Given the description of an element on the screen output the (x, y) to click on. 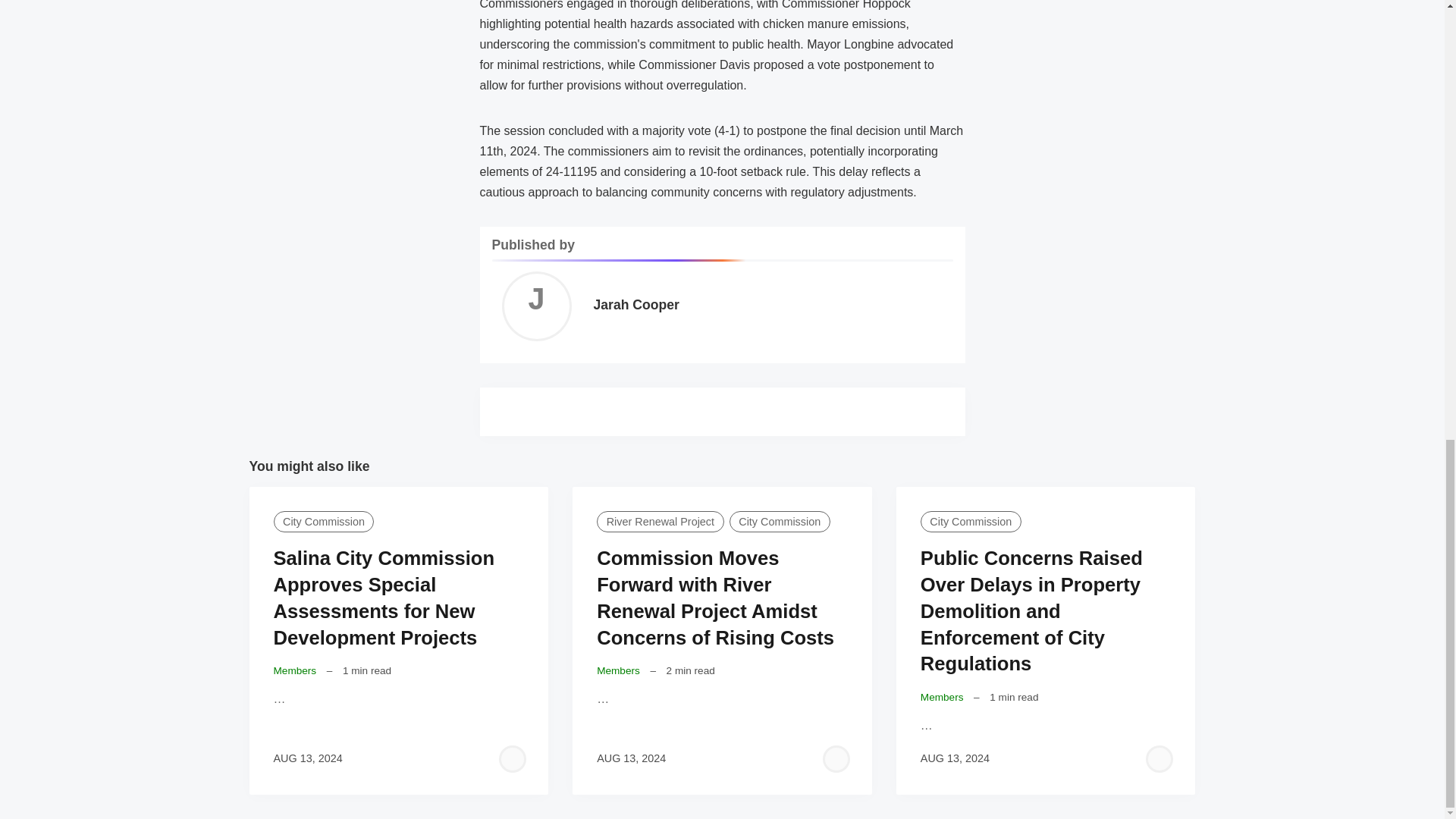
Jarah Cooper (536, 306)
Jarah Cooper (635, 304)
George (1159, 758)
George (512, 758)
City Commission (323, 521)
George (836, 758)
